Given the description of an element on the screen output the (x, y) to click on. 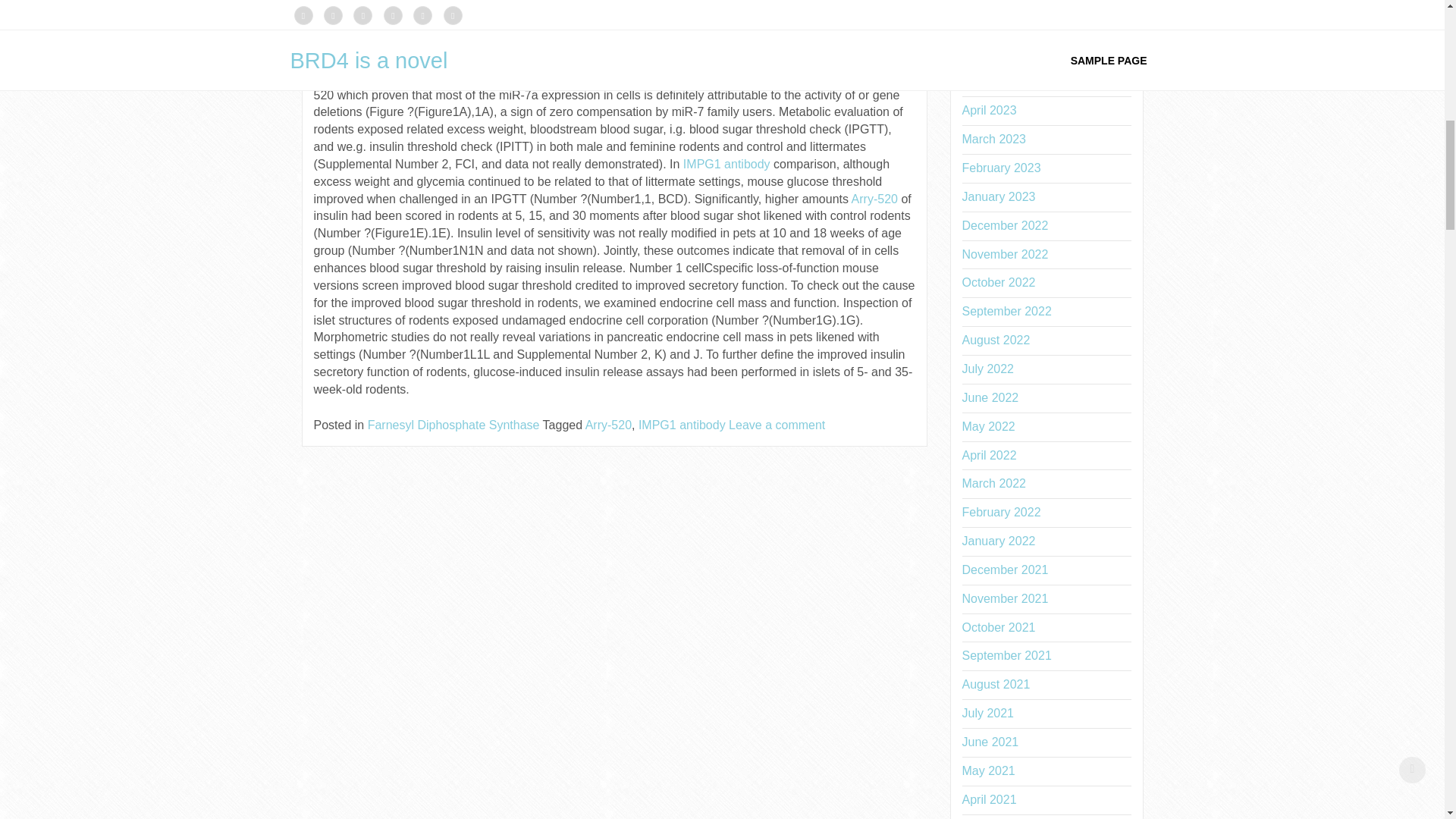
February 2023 (1045, 168)
May 2023 (1045, 82)
January 2023 (1045, 197)
IMPG1 antibody (682, 424)
April 2023 (1045, 111)
May 2022 (1045, 427)
Arry-520 (876, 198)
August 2022 (1045, 340)
December 2022 (1045, 226)
IMPG1 antibody (726, 164)
Arry-520 (608, 424)
April 2022 (1045, 456)
Farnesyl Diphosphate Synthase (454, 424)
June 2022 (1045, 398)
July 2022 (1045, 369)
